Given the description of an element on the screen output the (x, y) to click on. 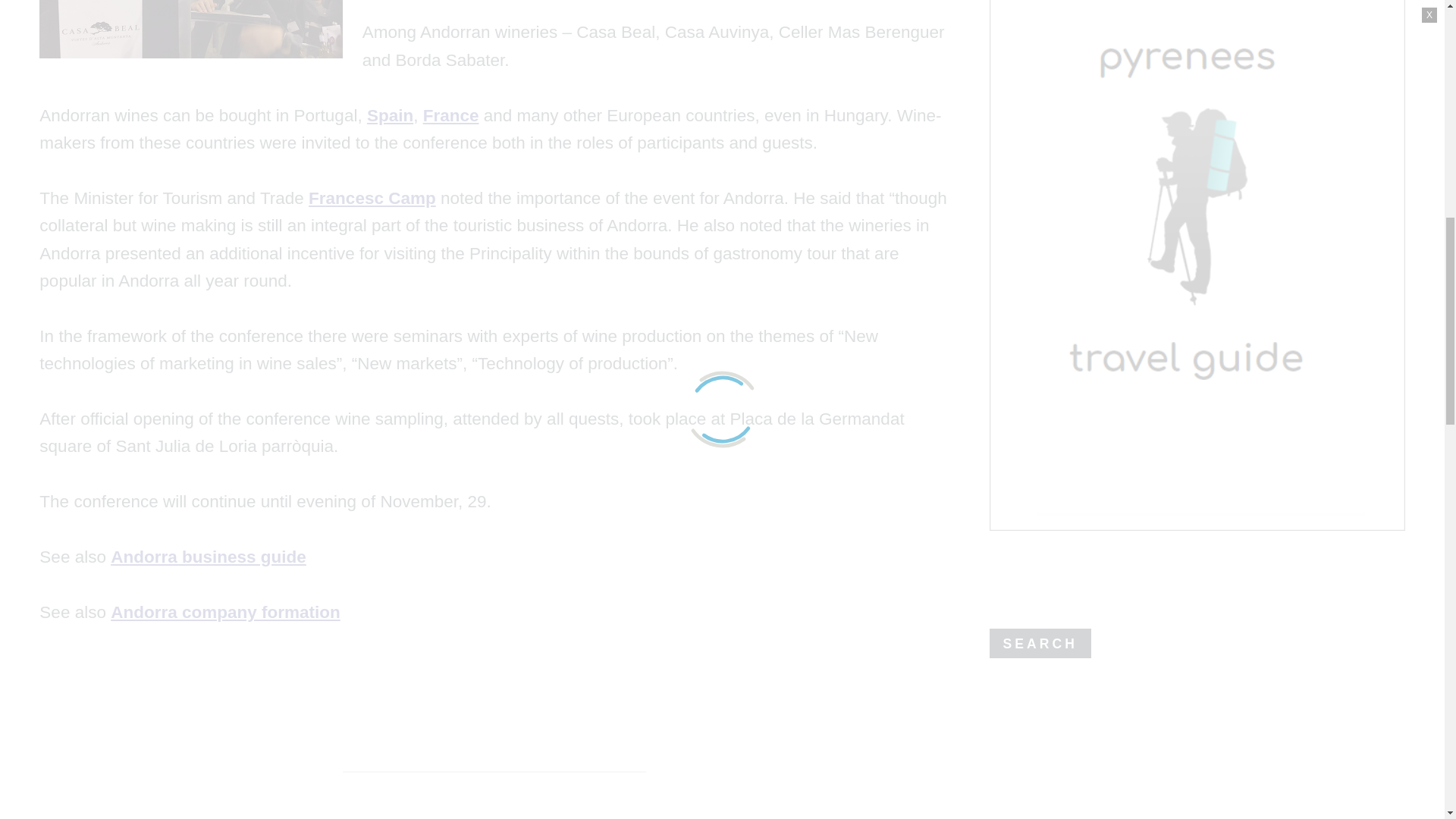
Francesc Camp (371, 198)
France (451, 115)
Spain (389, 115)
